Given the description of an element on the screen output the (x, y) to click on. 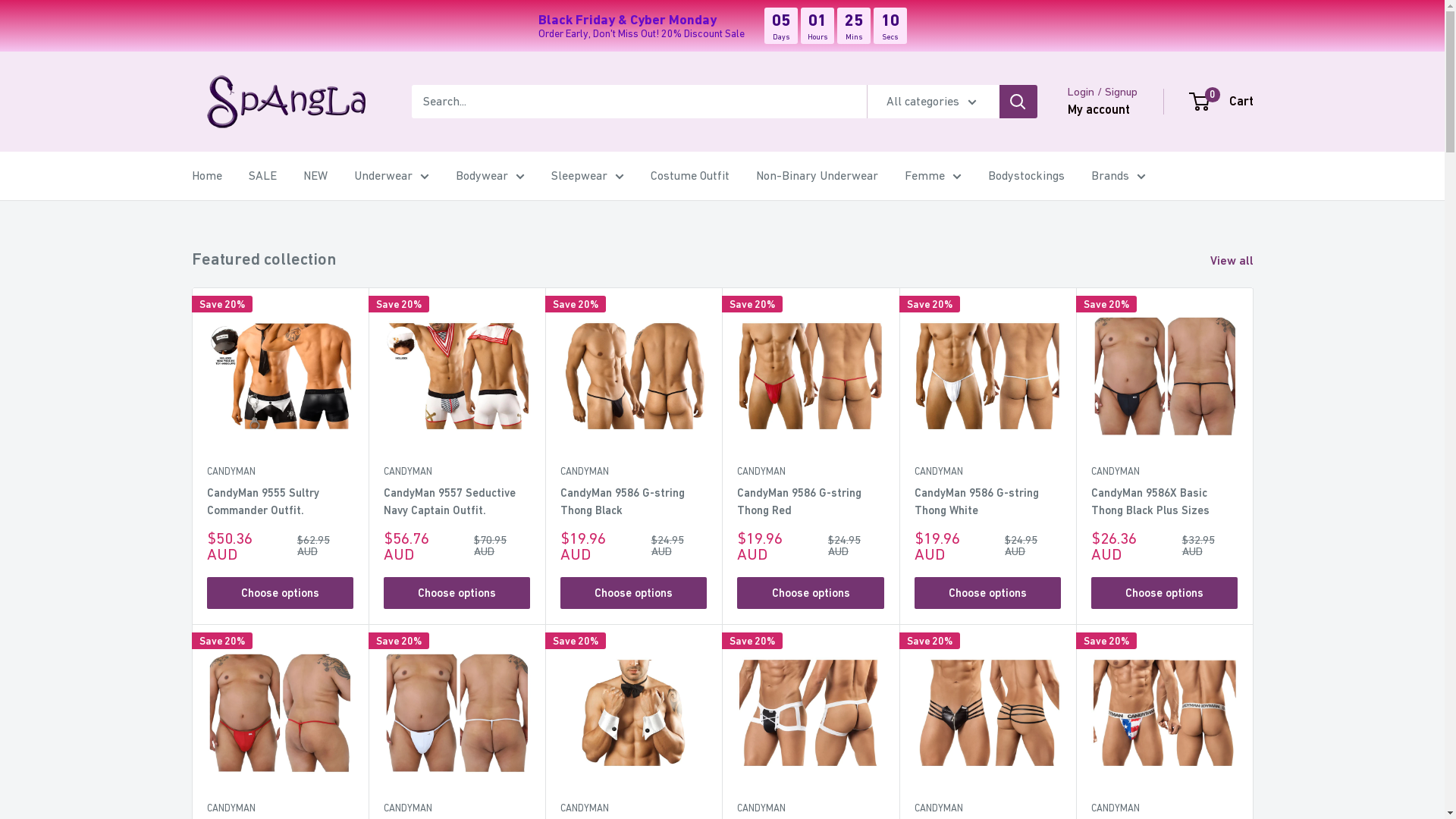
CANDYMAN Element type: text (633, 807)
CandyMan 9586 G-string Thong Black Element type: text (633, 501)
CANDYMAN Element type: text (279, 807)
CANDYMAN Element type: text (456, 807)
CandyMan 9555 Sultry Commander Outfit. Element type: text (279, 501)
View all Element type: text (1241, 260)
CANDYMAN Element type: text (987, 471)
SALE Element type: text (262, 175)
CandyMan 9586X Basic Thong Black Plus Sizes Element type: text (1164, 501)
Sleepwear Element type: text (586, 175)
Brands Element type: text (1117, 175)
CANDYMAN Element type: text (1164, 471)
CANDYMAN Element type: text (633, 471)
Non-Binary Underwear Element type: text (816, 175)
Spangla - Mens Lingerie Element type: text (285, 101)
Costume Outfit Element type: text (689, 175)
Choose options Element type: text (810, 592)
My account Element type: text (1098, 109)
Underwear Element type: text (390, 175)
NEW Element type: text (315, 175)
CANDYMAN Element type: text (810, 807)
Home Element type: text (206, 175)
Femme Element type: text (931, 175)
CANDYMAN Element type: text (810, 471)
Choose options Element type: text (987, 592)
CandyMan 9586 G-string Thong Red Element type: text (810, 501)
Bodystockings Element type: text (1025, 175)
0
Cart Element type: text (1221, 101)
CANDYMAN Element type: text (279, 471)
CANDYMAN Element type: text (987, 807)
CandyMan 9586 G-string Thong White Element type: text (987, 501)
CANDYMAN Element type: text (456, 471)
Choose options Element type: text (1164, 592)
Bodywear Element type: text (489, 175)
Choose options Element type: text (456, 592)
CANDYMAN Element type: text (1164, 807)
Choose options Element type: text (633, 592)
Choose options Element type: text (279, 592)
CandyMan 9557 Seductive Navy Captain Outfit. Element type: text (456, 501)
